Given the description of an element on the screen output the (x, y) to click on. 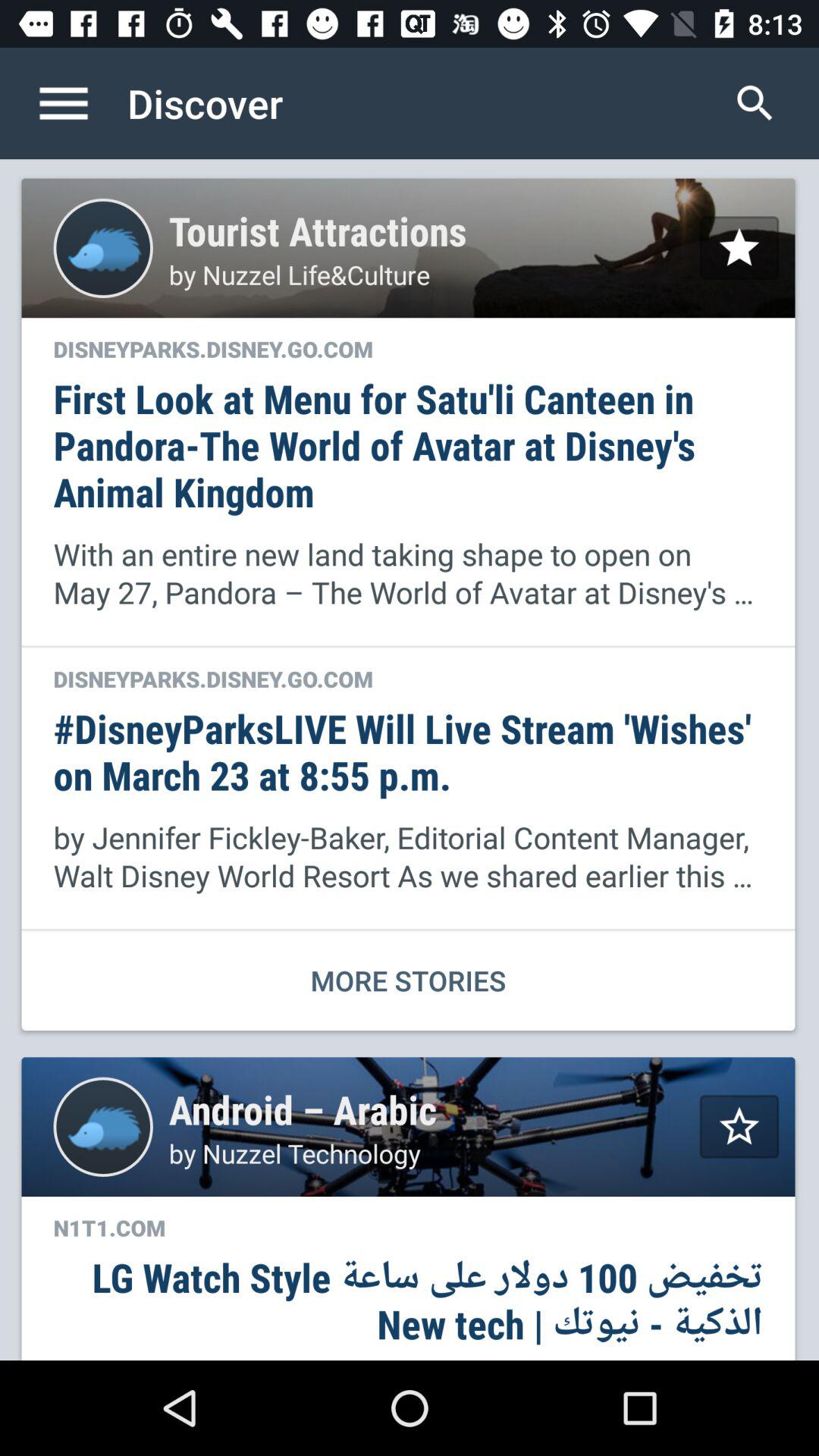
star favorite (739, 1126)
